Given the description of an element on the screen output the (x, y) to click on. 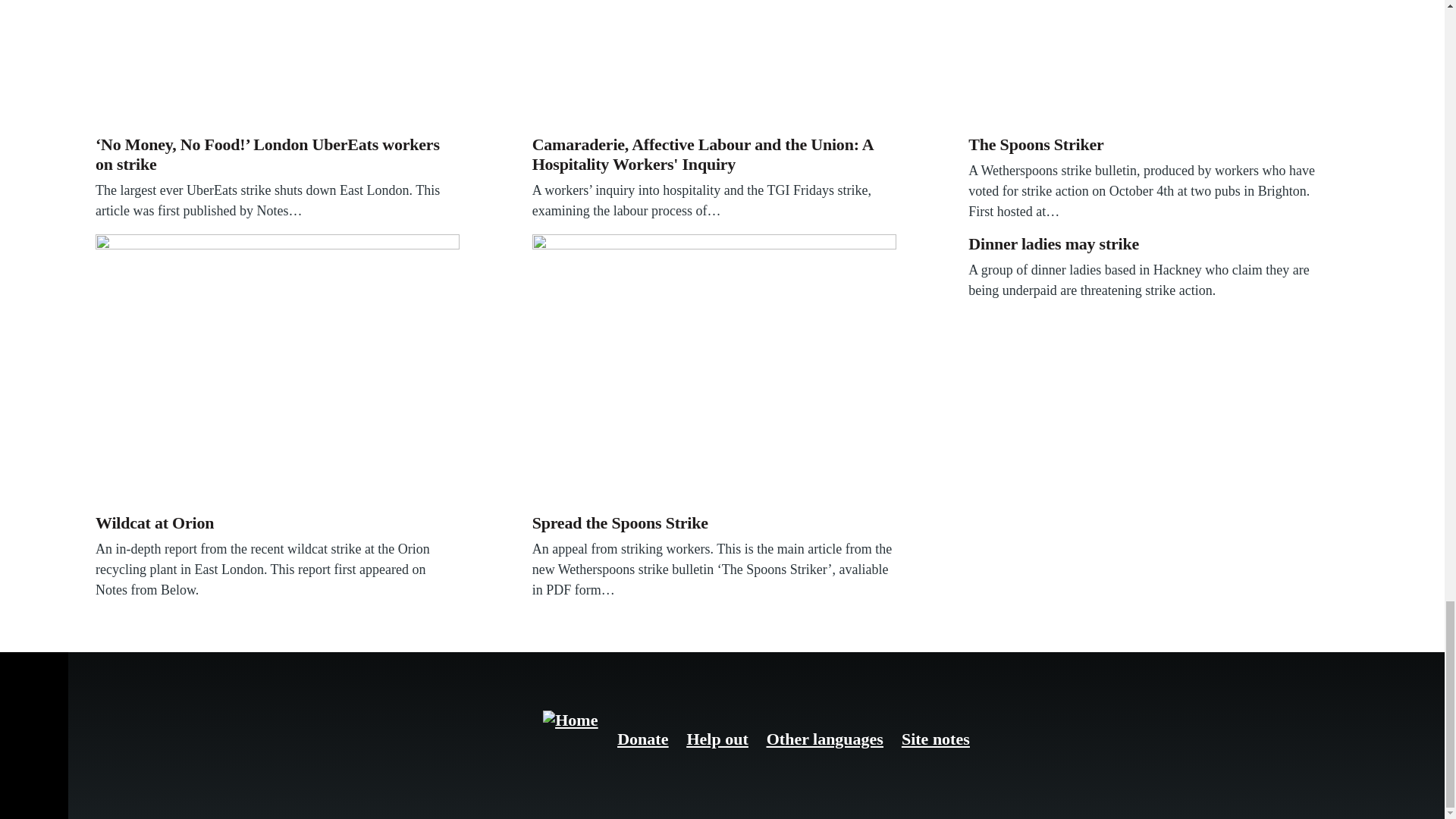
Help out (716, 738)
libcom content in languages other than English (825, 738)
Donate (642, 738)
